Given the description of an element on the screen output the (x, y) to click on. 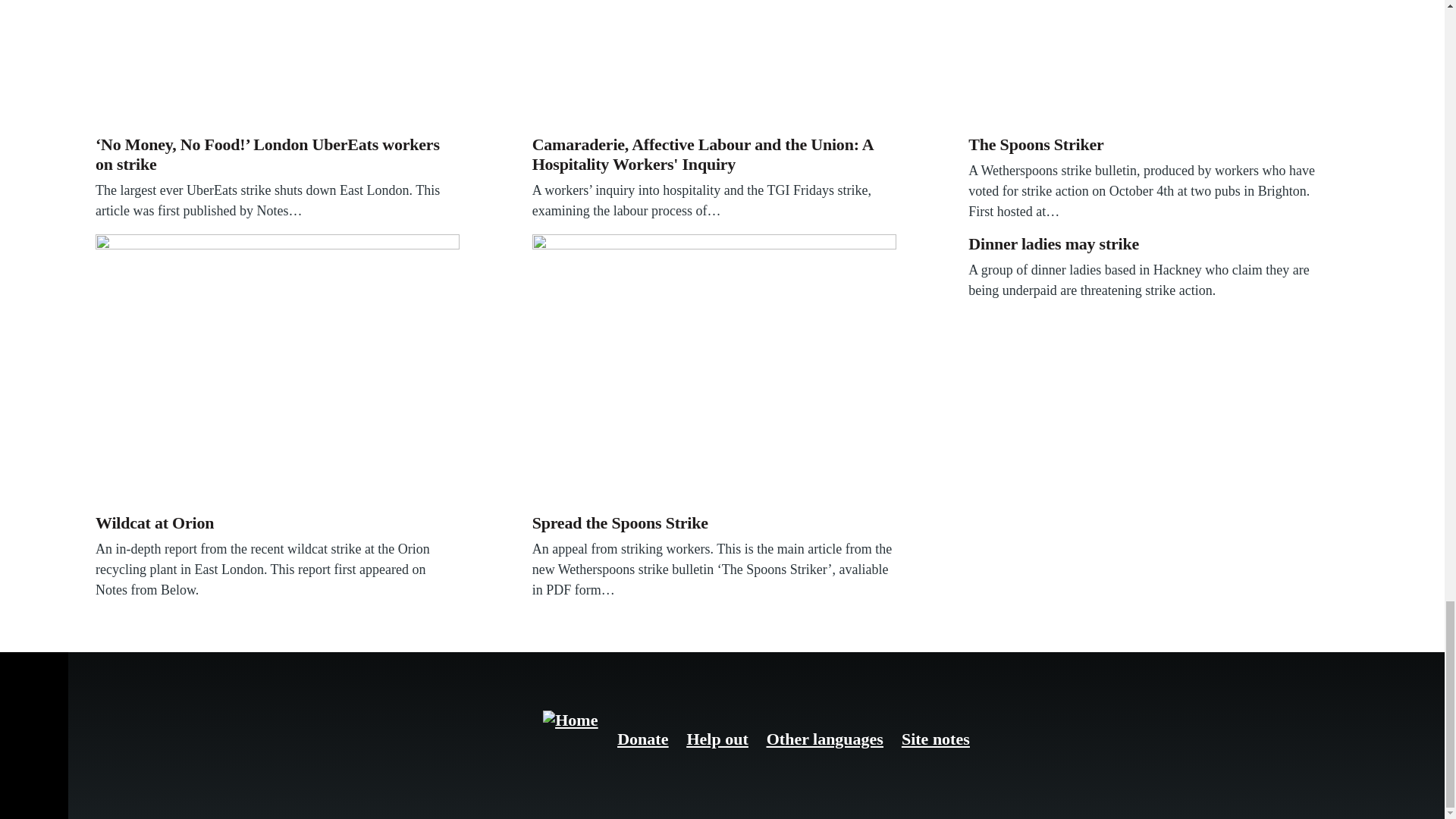
Help out (716, 738)
libcom content in languages other than English (825, 738)
Donate (642, 738)
